Given the description of an element on the screen output the (x, y) to click on. 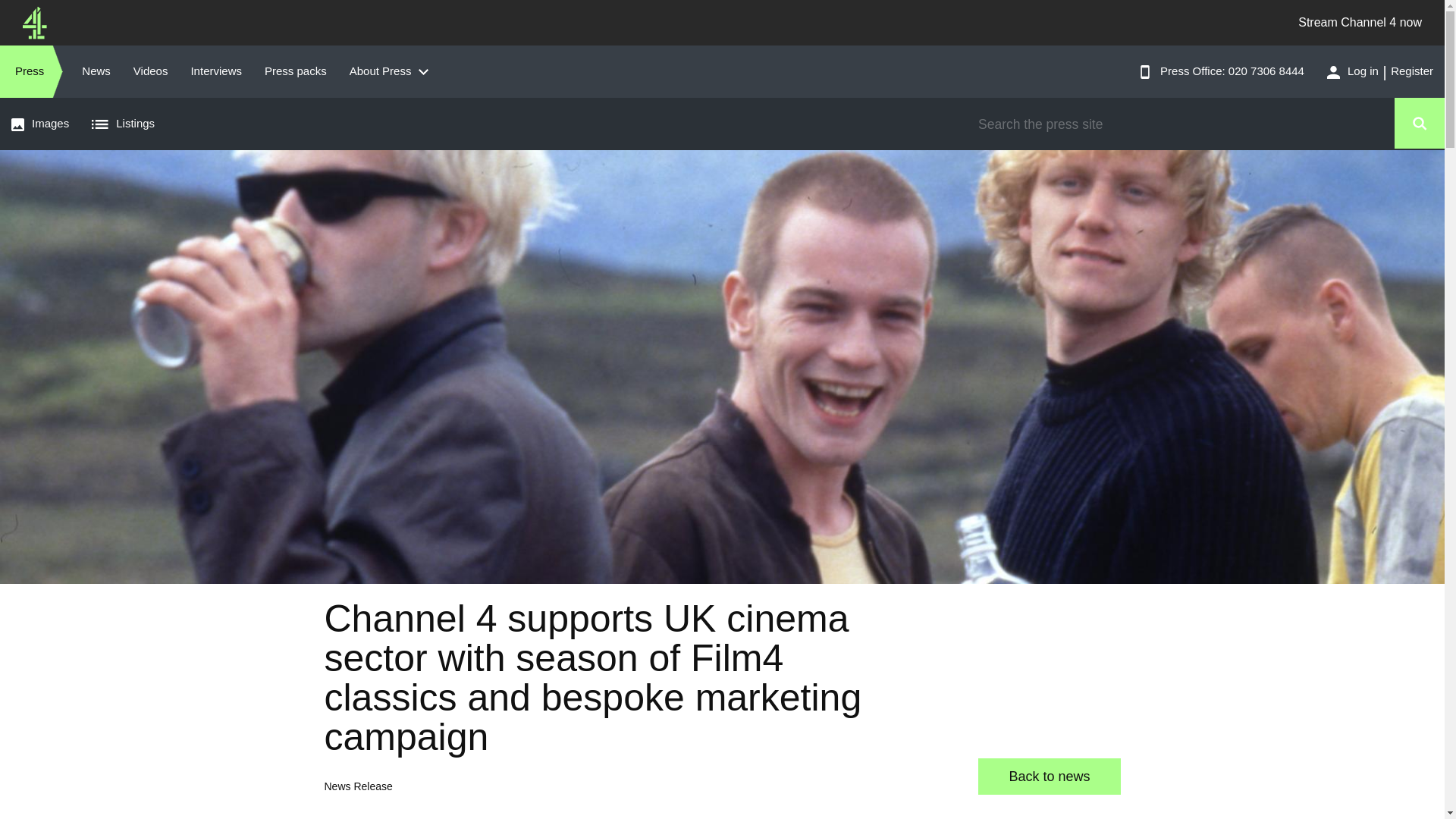
Stream Channel 4 now (1359, 22)
Interviews (216, 71)
Listings (126, 123)
Press Office: 020 7306 8444 (1220, 71)
Press (31, 71)
Log in (1347, 71)
Press packs (295, 71)
Images (40, 123)
Back to news (1048, 776)
About Press (391, 71)
News (95, 71)
Videos (150, 71)
